Given the description of an element on the screen output the (x, y) to click on. 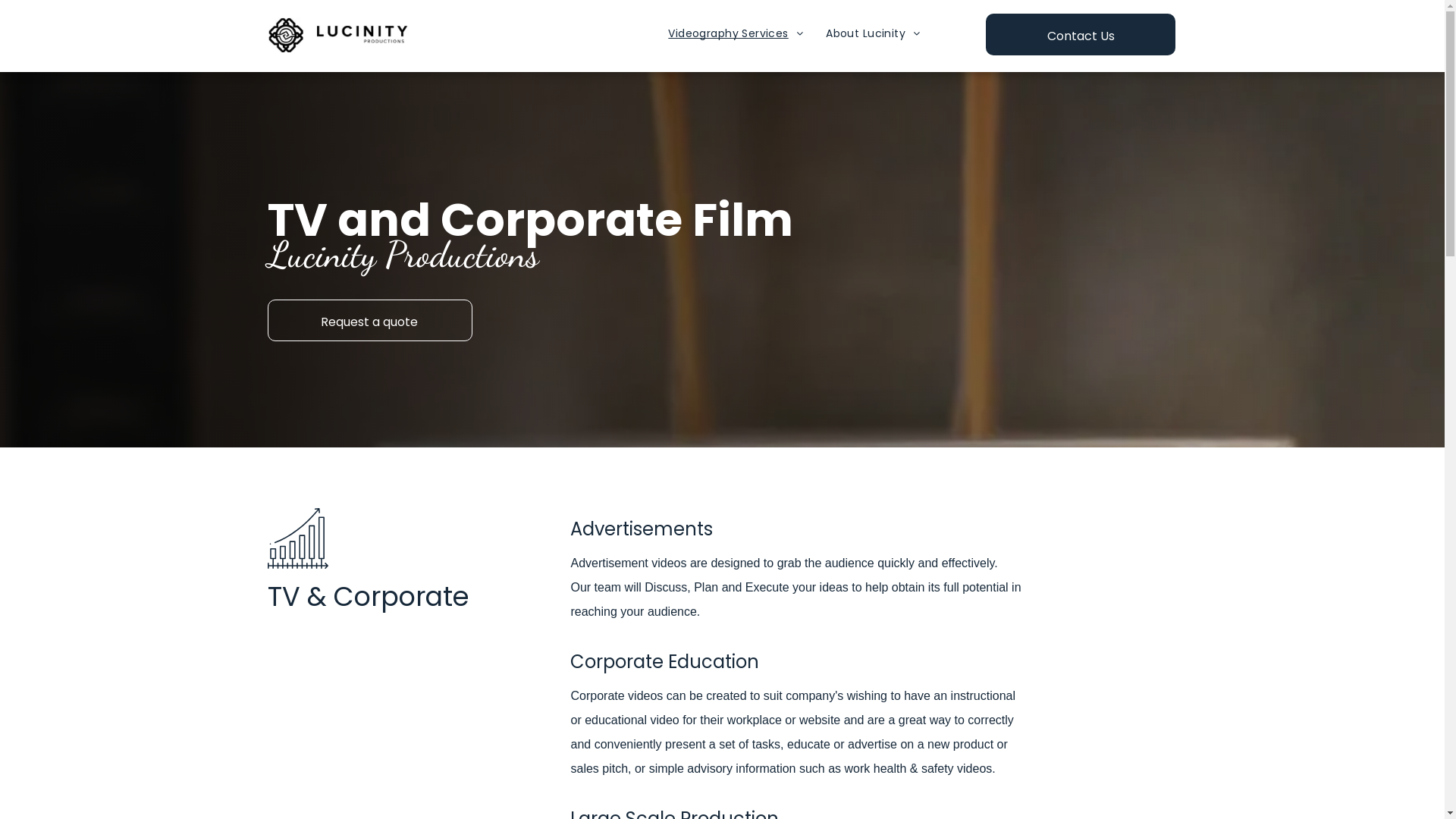
Request a quote Element type: text (368, 320)
Contact Us Element type: text (1080, 34)
Videography Services Element type: text (735, 32)
About Lucinity Element type: text (872, 32)
